Given the description of an element on the screen output the (x, y) to click on. 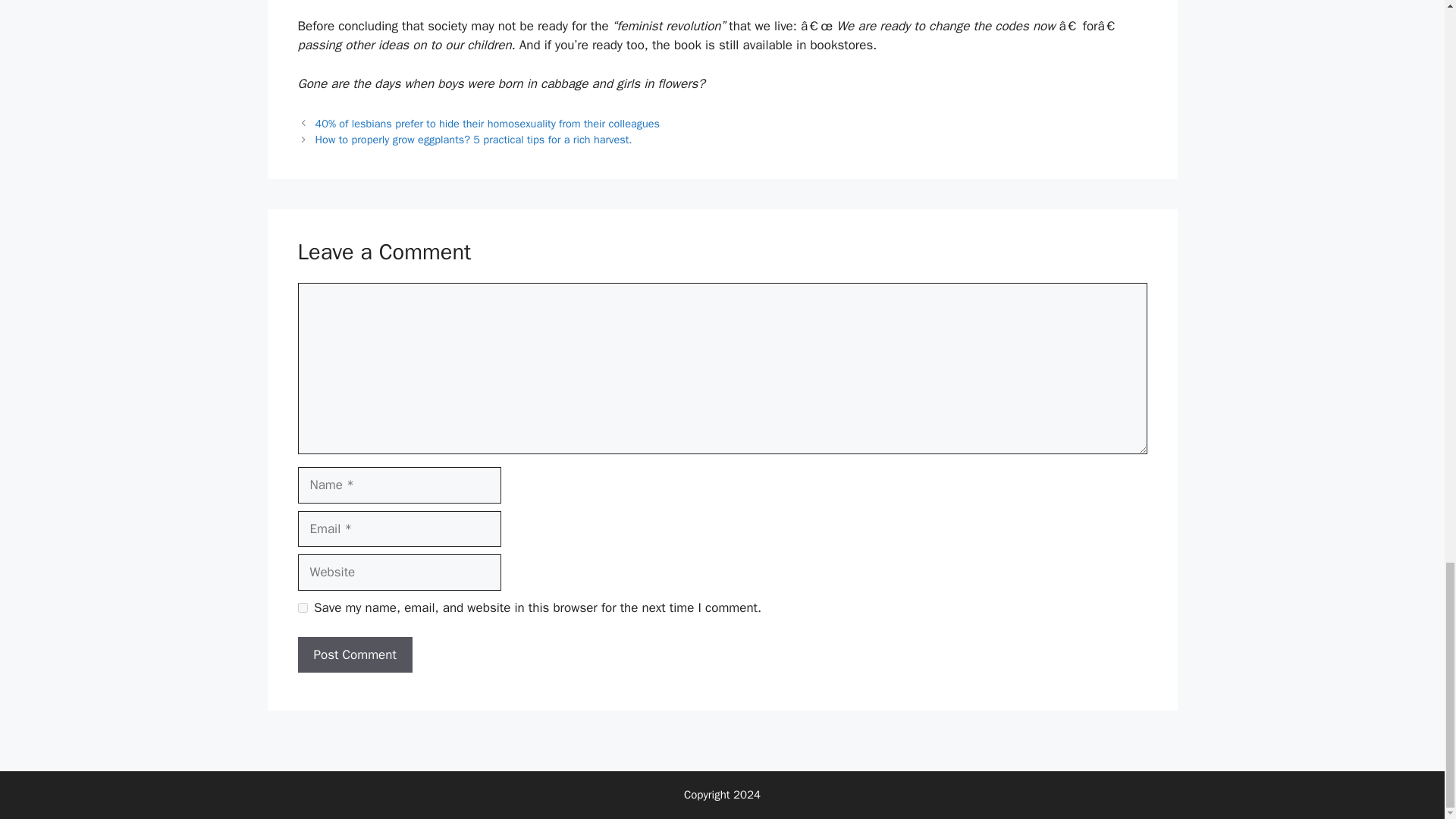
yes (302, 607)
Post Comment (354, 655)
Post Comment (354, 655)
